Given the description of an element on the screen output the (x, y) to click on. 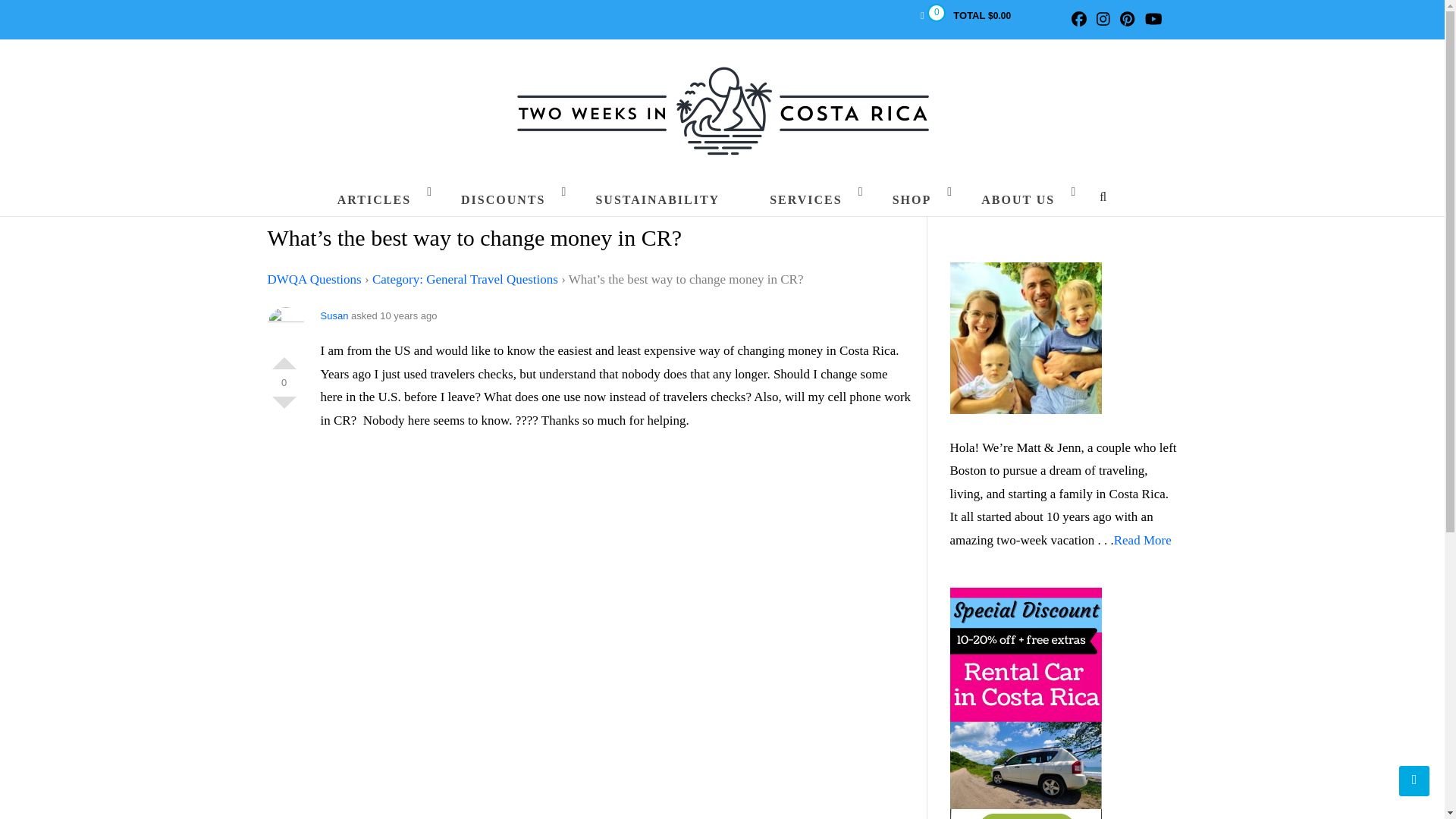
Vote Up (282, 356)
Search (1090, 248)
DWQA Questions (313, 278)
SHOP (912, 199)
DISCOUNTS (502, 199)
SERVICES (804, 199)
SUSTAINABILITY (657, 199)
ARTICLES (374, 199)
ABOUT US (1018, 199)
0 (921, 15)
